Given the description of an element on the screen output the (x, y) to click on. 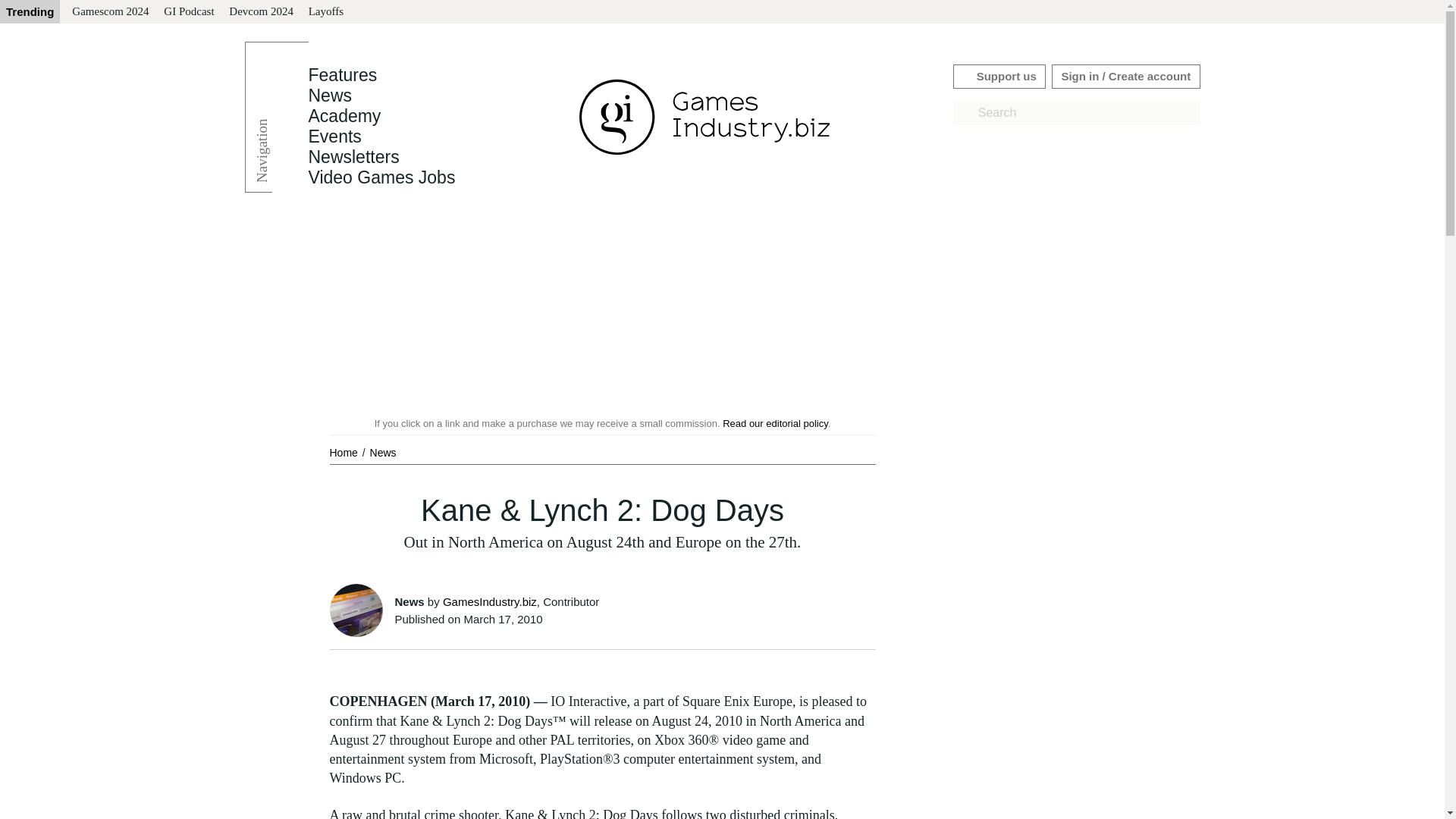
Academy (343, 116)
Video Games Jobs (380, 177)
News (329, 95)
GI Podcast (188, 11)
Layoffs (325, 11)
Layoffs (325, 11)
Features (342, 75)
Support us (999, 75)
Video Games Jobs (380, 177)
Events (334, 136)
